Given the description of an element on the screen output the (x, y) to click on. 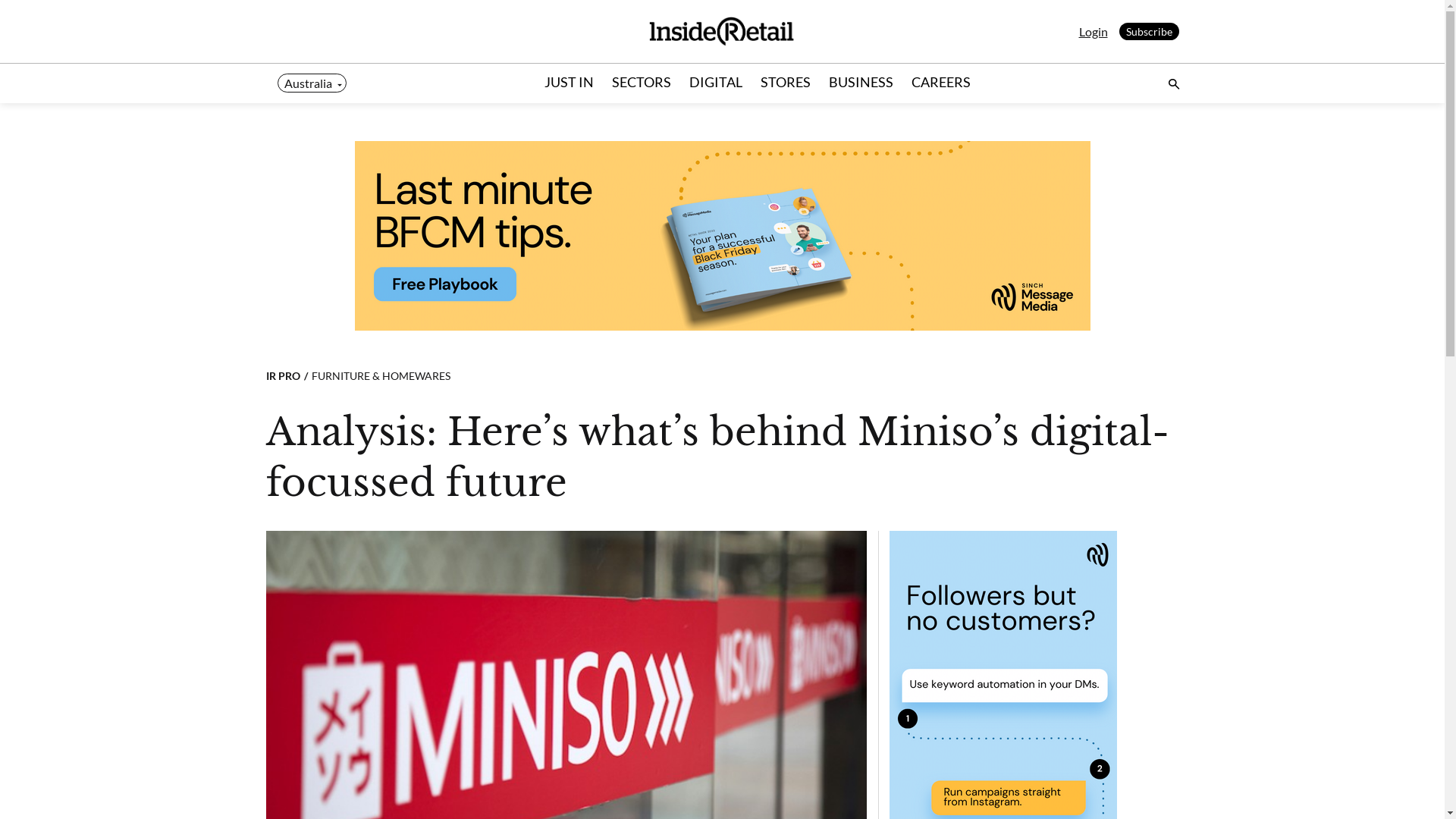
JUST IN Element type: text (567, 83)
SECTORS Element type: text (641, 83)
BUSINESS Element type: text (861, 83)
IR PRO Element type: text (282, 375)
Australia Element type: text (311, 82)
STORES Element type: text (785, 83)
Subscribe Element type: text (1149, 31)
3rd party ad content Element type: hover (722, 235)
CAREERS Element type: text (939, 83)
FURNITURE & HOMEWARES Element type: text (375, 375)
DIGITAL Element type: text (715, 83)
Login Element type: text (1092, 31)
